Given the description of an element on the screen output the (x, y) to click on. 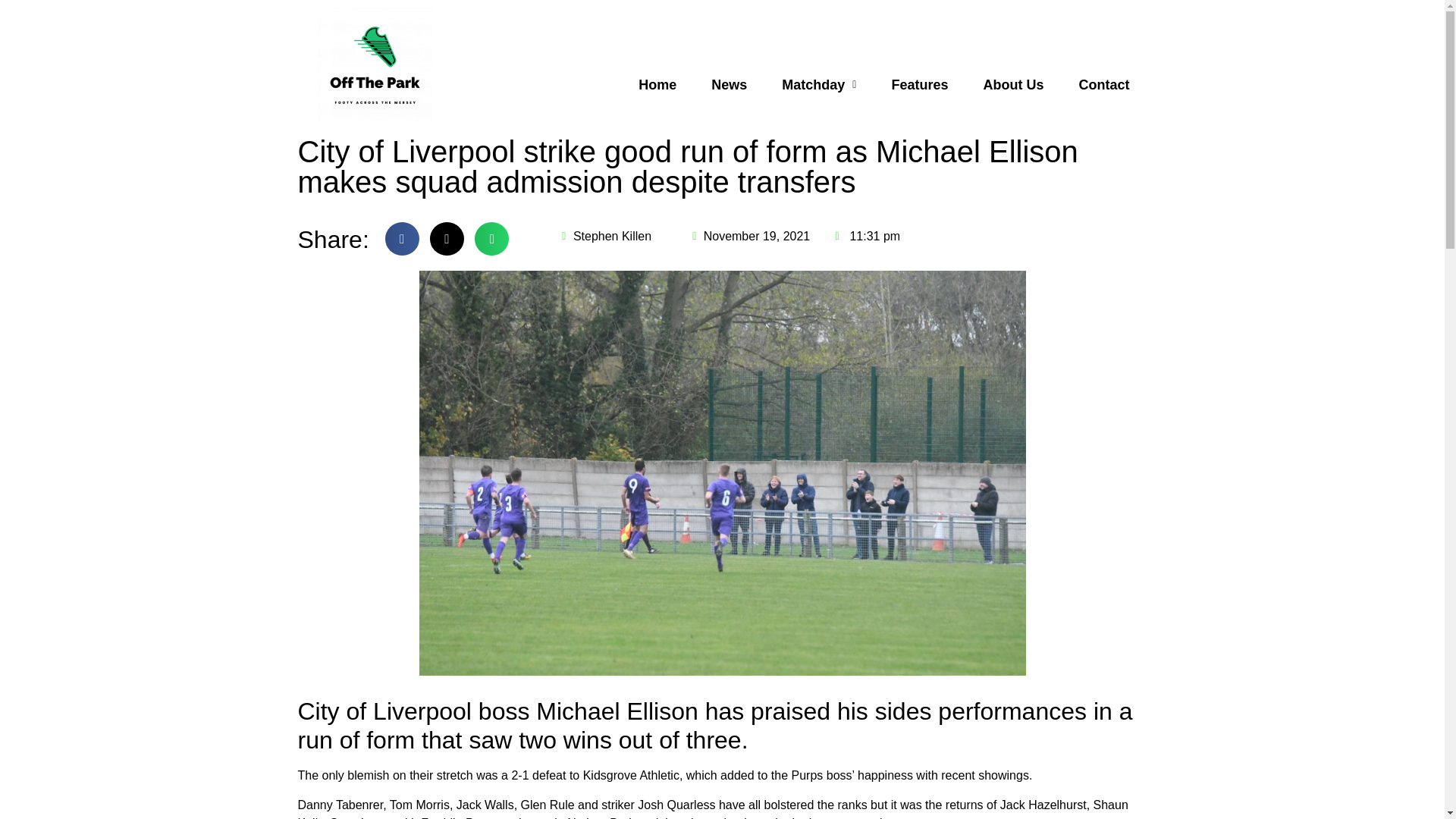
Contact (1104, 84)
November 19, 2021 (749, 236)
Features (919, 84)
News (729, 84)
Stephen Killen (604, 236)
Matchday (818, 84)
About Us (1013, 84)
Home (657, 84)
